Given the description of an element on the screen output the (x, y) to click on. 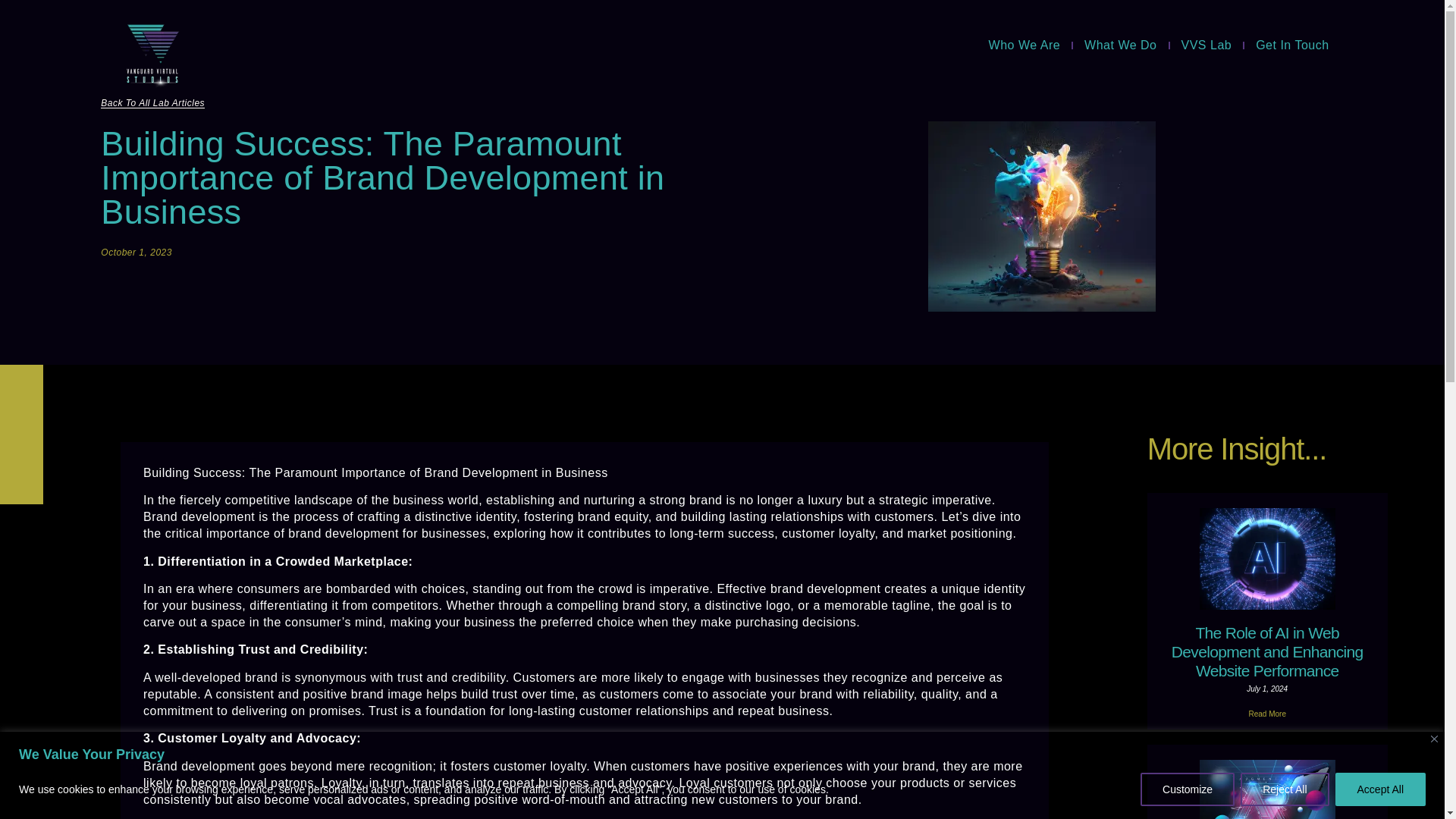
Get In Touch (1108, 30)
VVS Lab (1027, 30)
Get In Touch (1291, 45)
Accept All (1380, 777)
Who We Are (1024, 45)
What We Do (1120, 45)
What We Do (946, 30)
Who We Are (855, 30)
Vanguard Virtual Studios (356, 36)
Reject All (1283, 777)
